Given the description of an element on the screen output the (x, y) to click on. 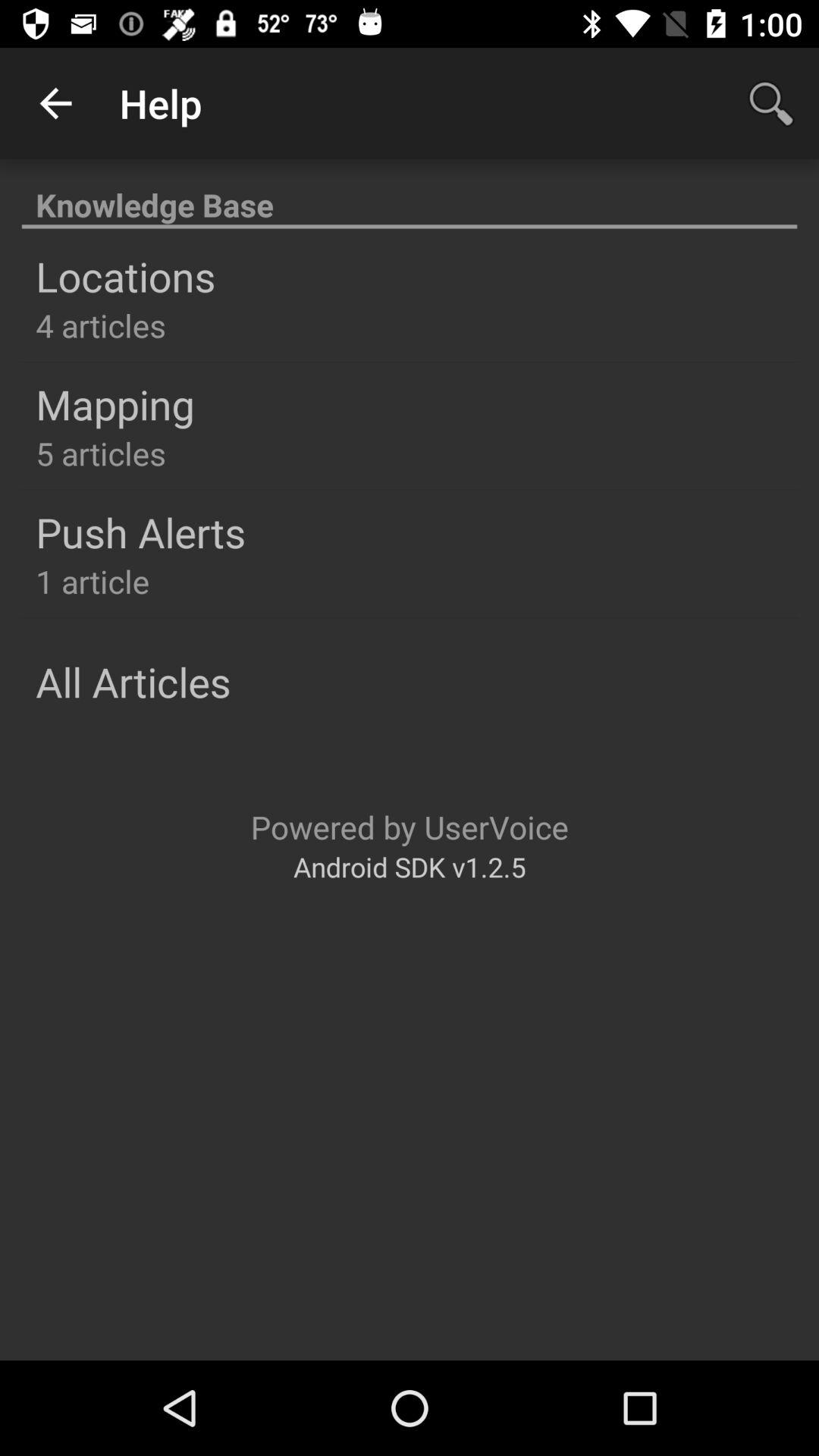
flip to 4 articles (100, 324)
